Given the description of an element on the screen output the (x, y) to click on. 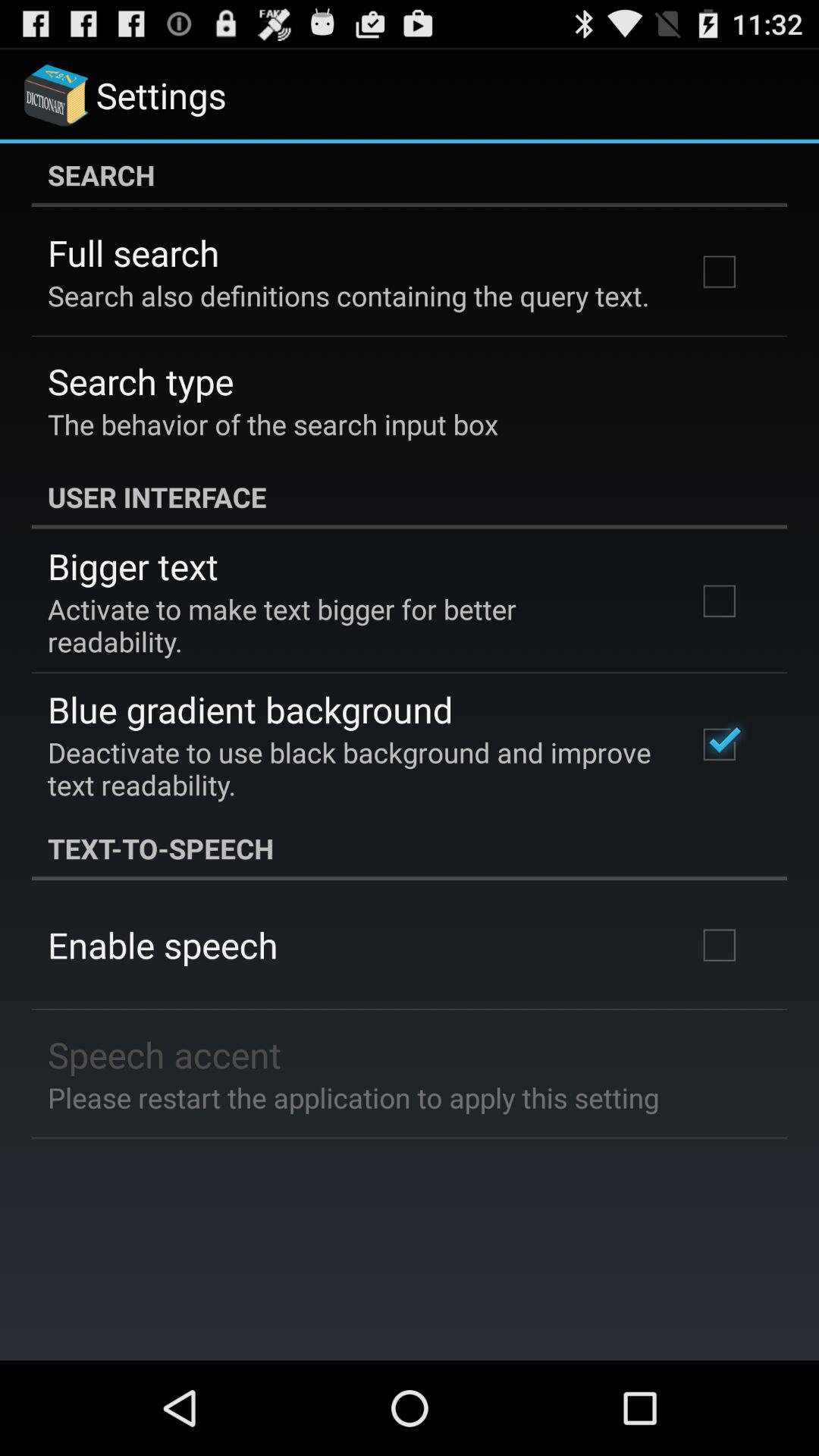
tap item above deactivate to use (250, 709)
